Given the description of an element on the screen output the (x, y) to click on. 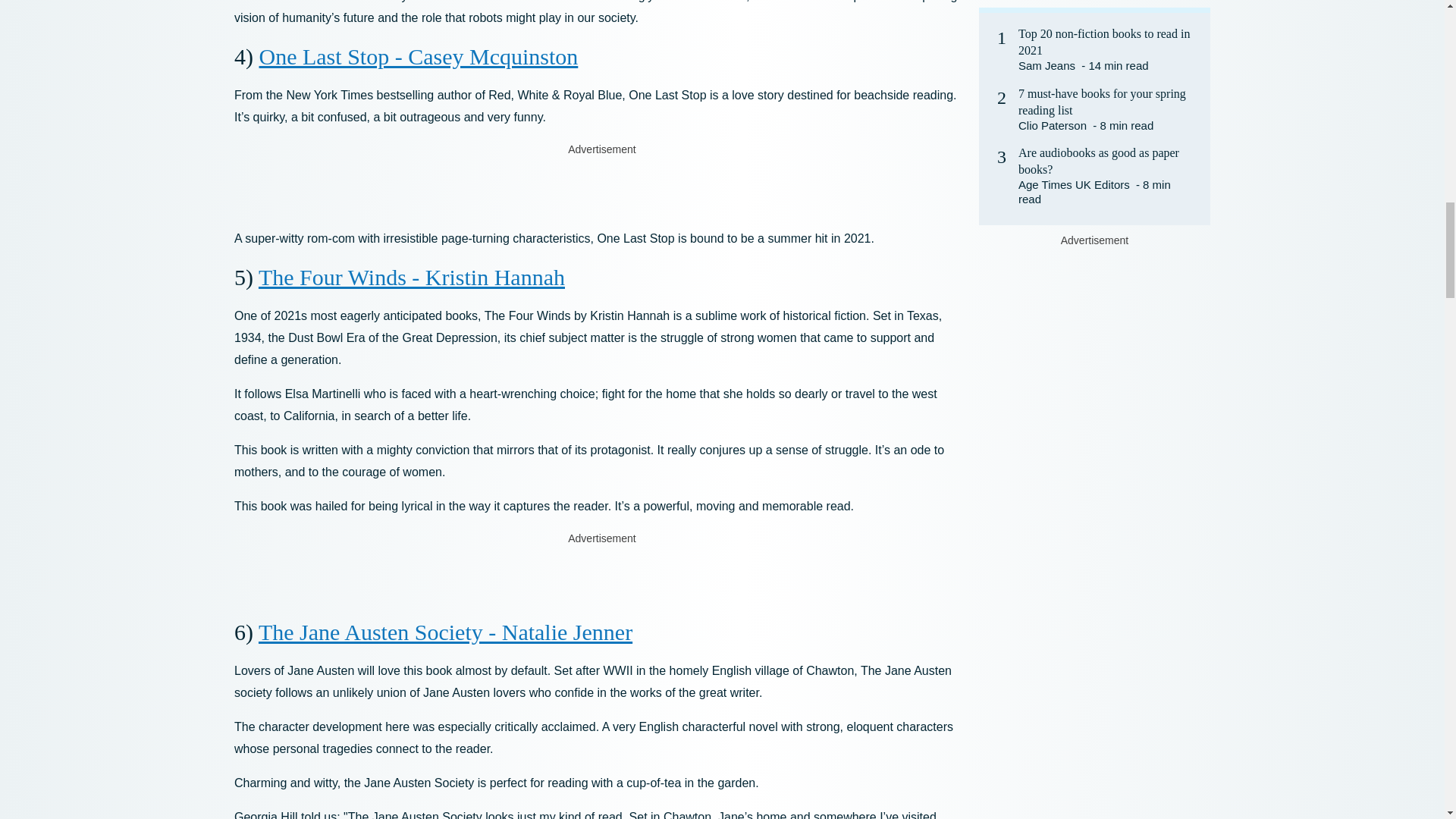
The Jane Austen Society - Natalie Jenner (445, 631)
One Last Stop - Casey Mcquinston (418, 56)
The Four Winds - Kristin Hannah (411, 276)
